Given the description of an element on the screen output the (x, y) to click on. 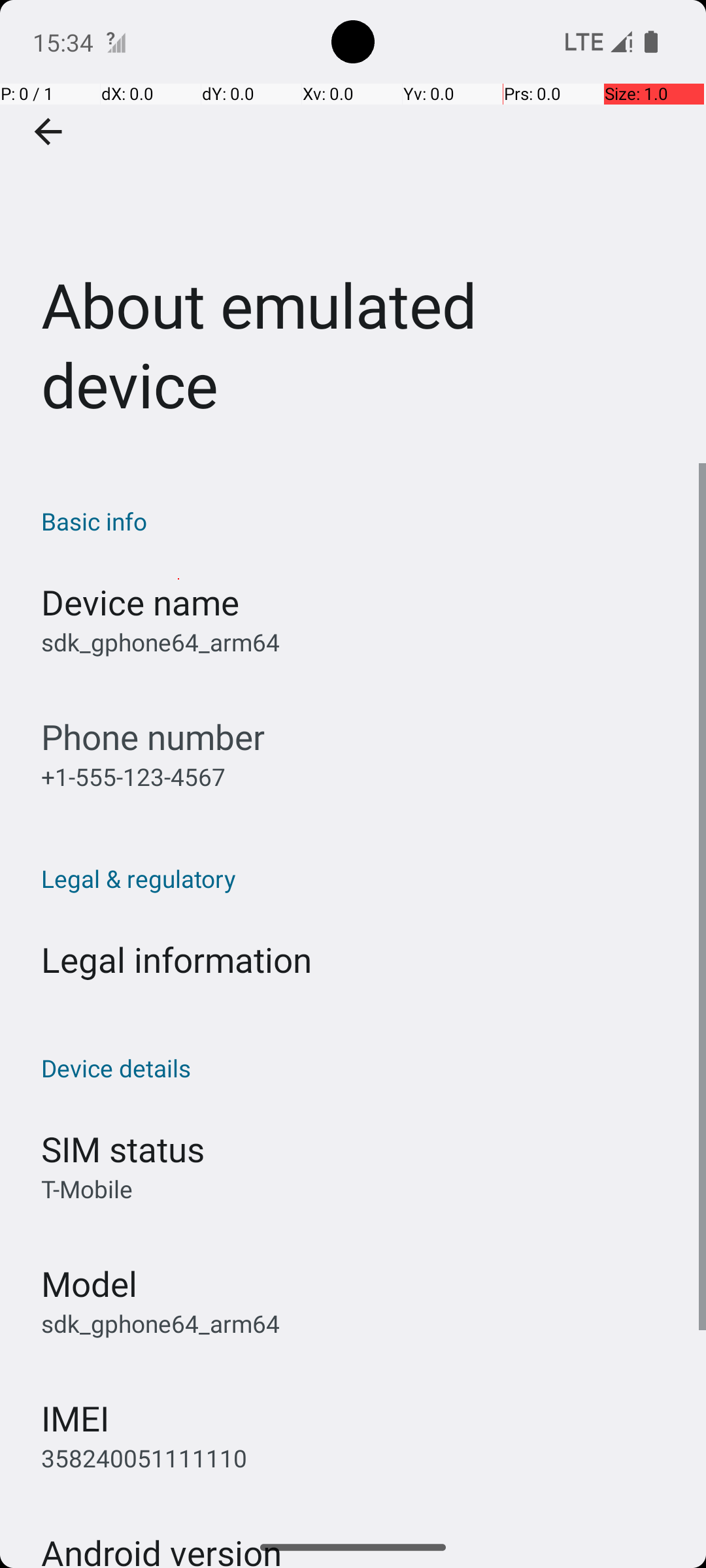
About emulated device Element type: android.widget.FrameLayout (353, 231)
Basic info Element type: android.widget.TextView (359, 520)
Phone number Element type: android.widget.TextView (152, 736)
+1-555-123-4567 Element type: android.widget.TextView (133, 776)
Legal & regulatory Element type: android.widget.TextView (359, 878)
Legal information Element type: android.widget.TextView (176, 959)
Device details Element type: android.widget.TextView (359, 1067)
SIM status Element type: android.widget.TextView (122, 1148)
Model Element type: android.widget.TextView (89, 1283)
IMEI Element type: android.widget.TextView (75, 1417)
358240051111110 Element type: android.widget.TextView (144, 1457)
